Given the description of an element on the screen output the (x, y) to click on. 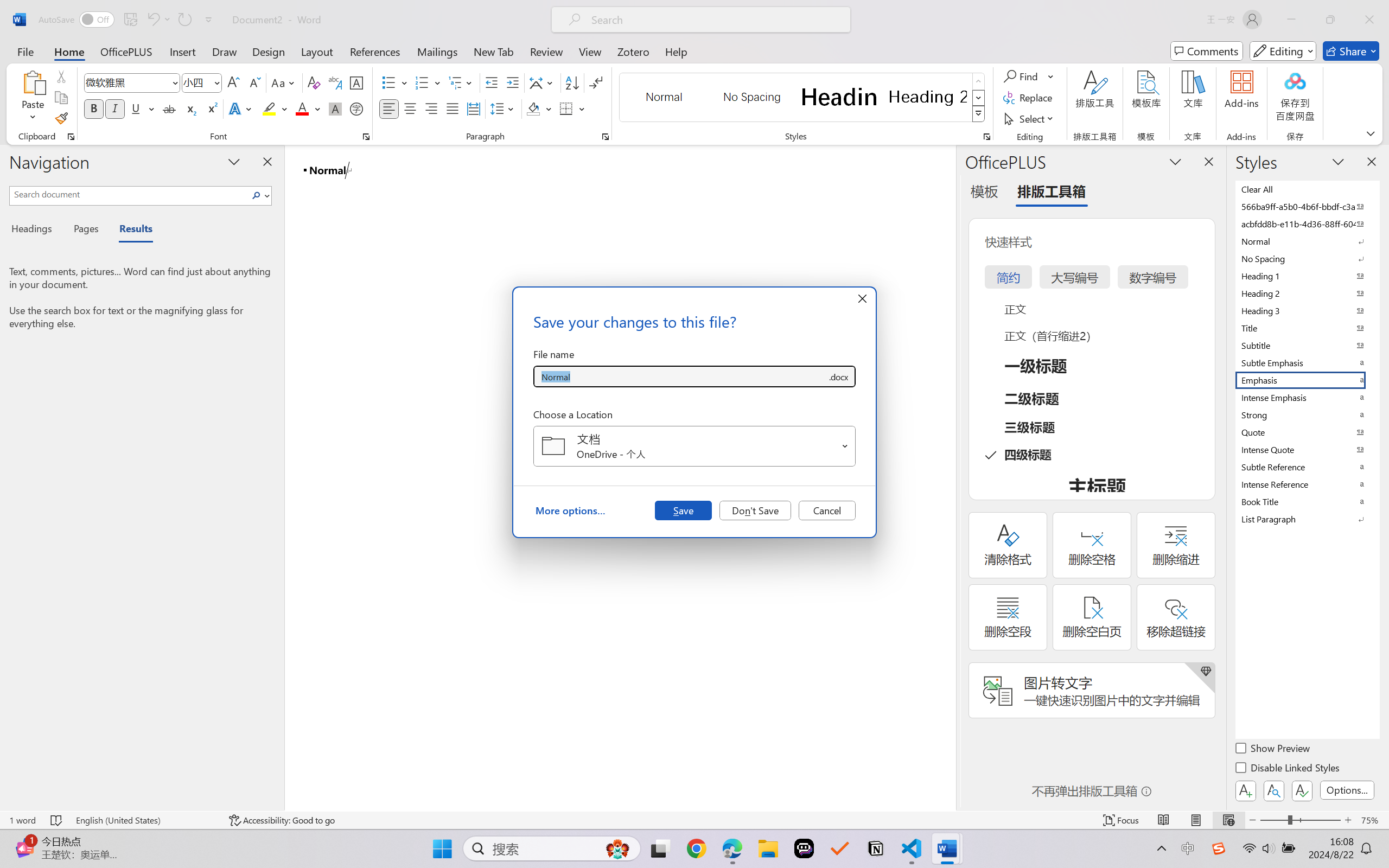
Font Color (308, 108)
Align Left (388, 108)
Underline (142, 108)
Open (844, 446)
Title (1306, 327)
Format Painter (60, 118)
